Given the description of an element on the screen output the (x, y) to click on. 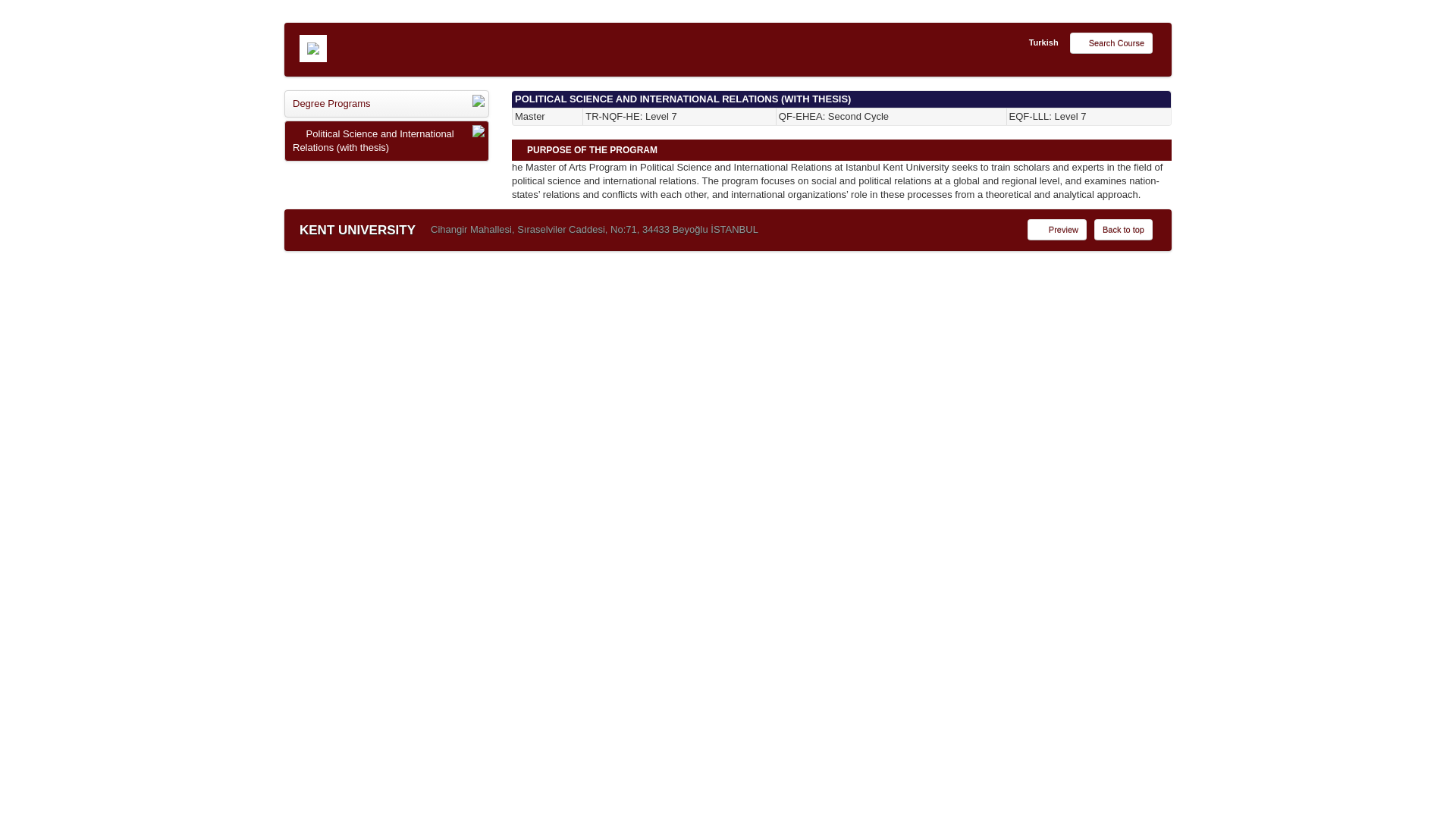
Degree Programs (386, 103)
Back to top (1123, 228)
Turkish (1043, 42)
Search Course (1111, 42)
Preview (1056, 228)
KENT UNIVERSITY (356, 230)
